Given the description of an element on the screen output the (x, y) to click on. 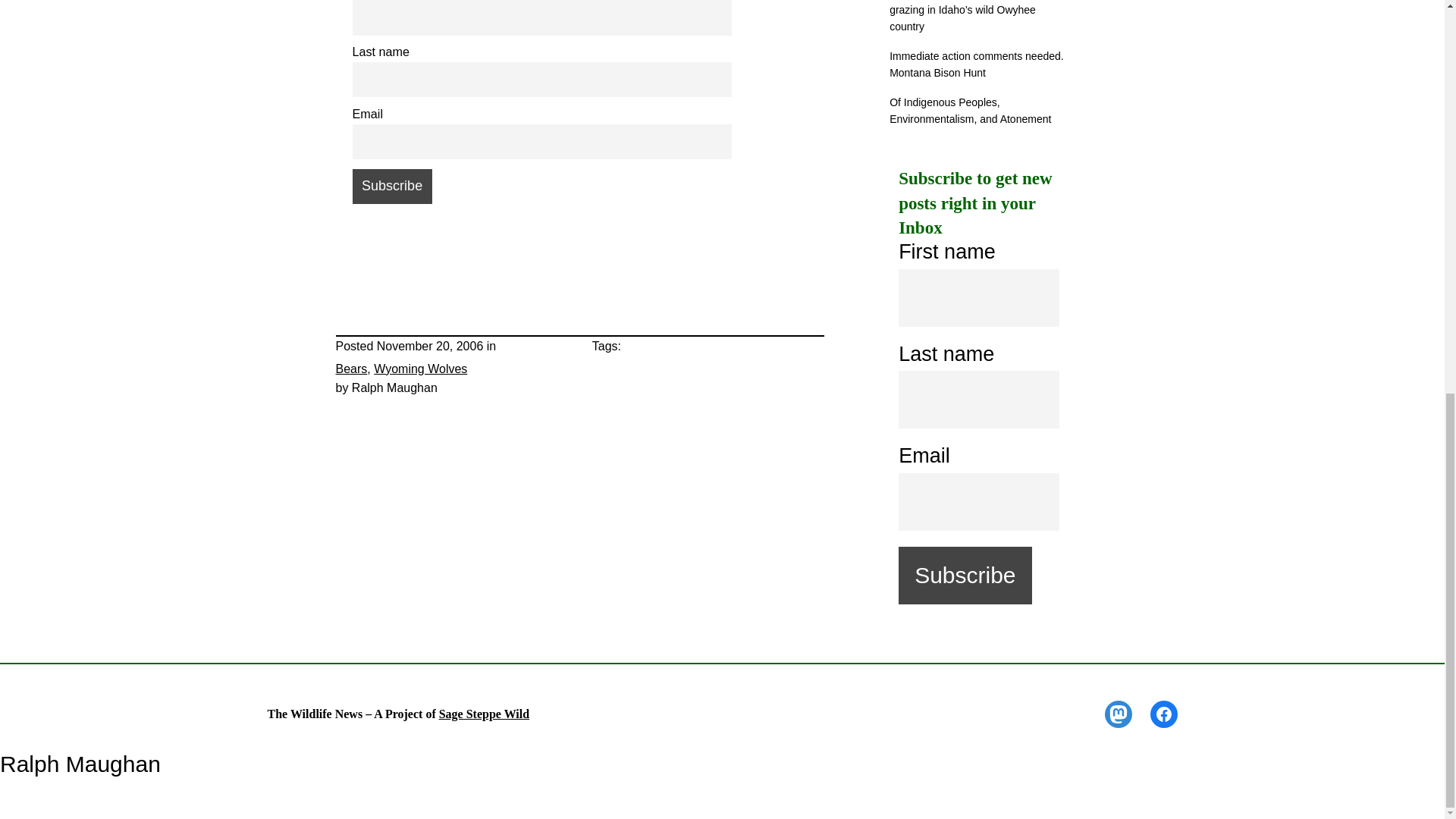
Subscribe (391, 185)
Subscribe (964, 575)
